Given the description of an element on the screen output the (x, y) to click on. 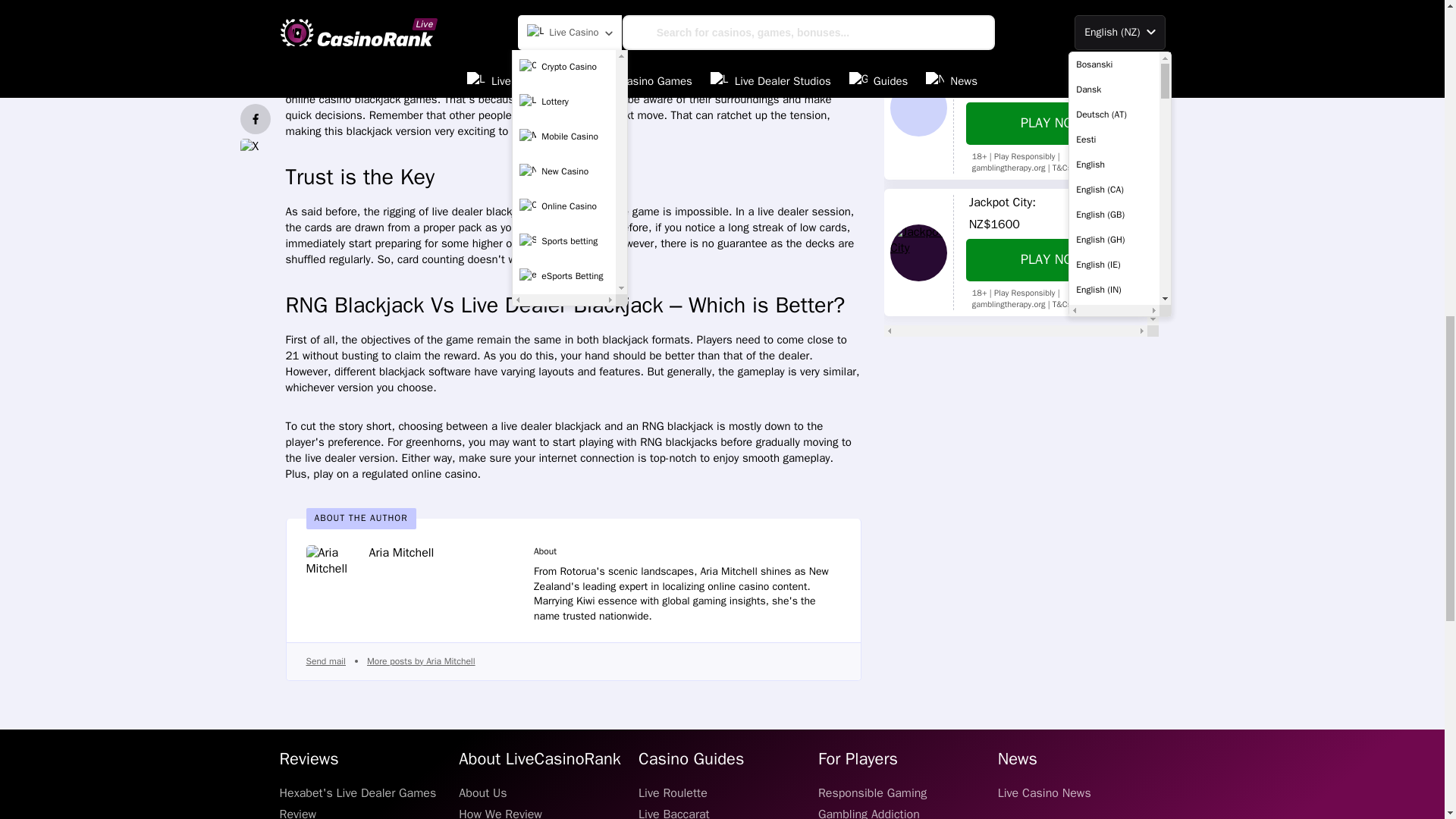
Indonesia (1113, 4)
